Given the description of an element on the screen output the (x, y) to click on. 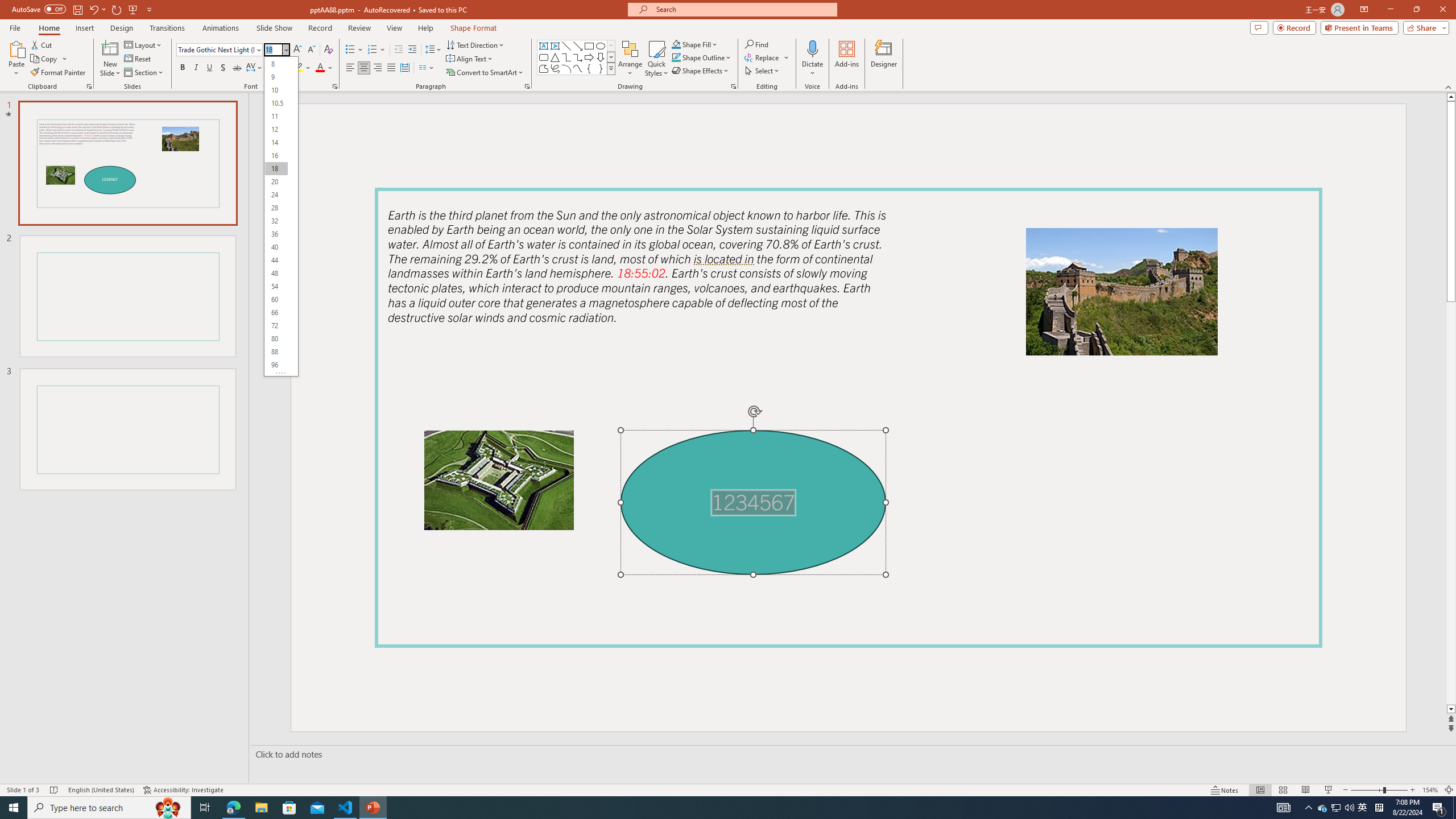
96 (276, 364)
40 (276, 246)
28 (276, 207)
